Given the description of an element on the screen output the (x, y) to click on. 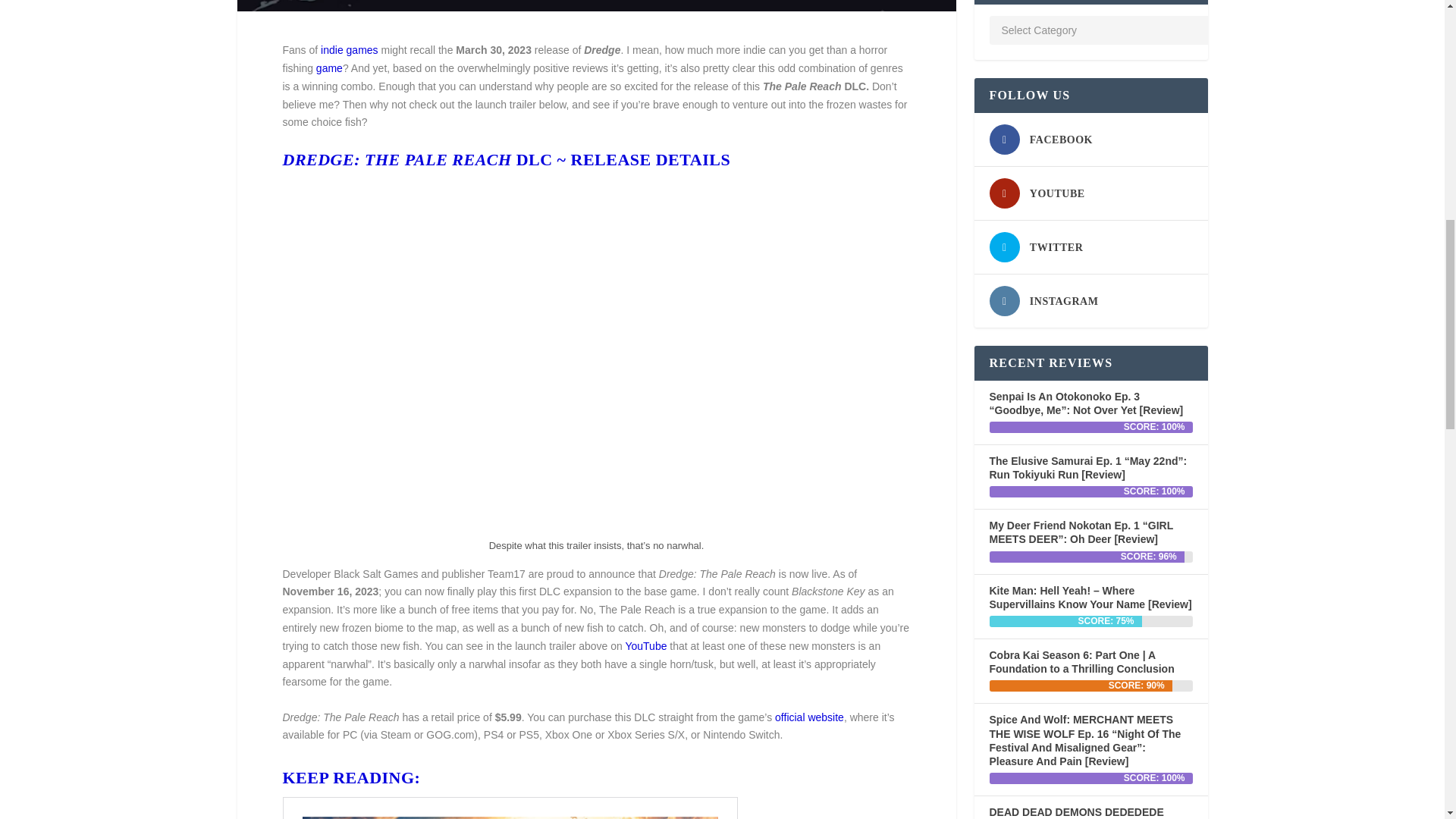
indie games (349, 50)
game (328, 68)
